Given the description of an element on the screen output the (x, y) to click on. 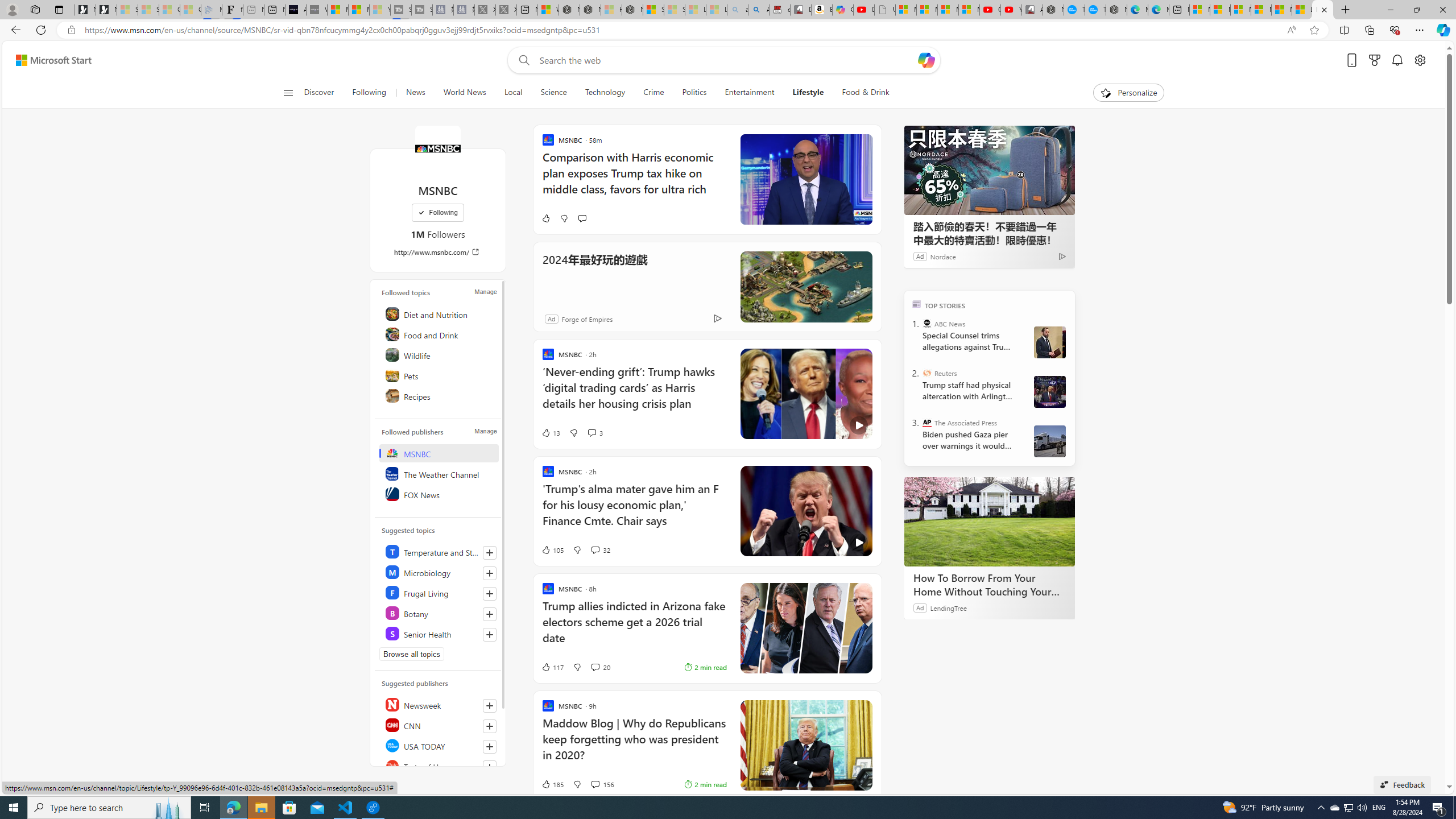
Entertainment (748, 92)
Food & Drink (865, 92)
Technology (604, 92)
Copilot (842, 9)
